Given the description of an element on the screen output the (x, y) to click on. 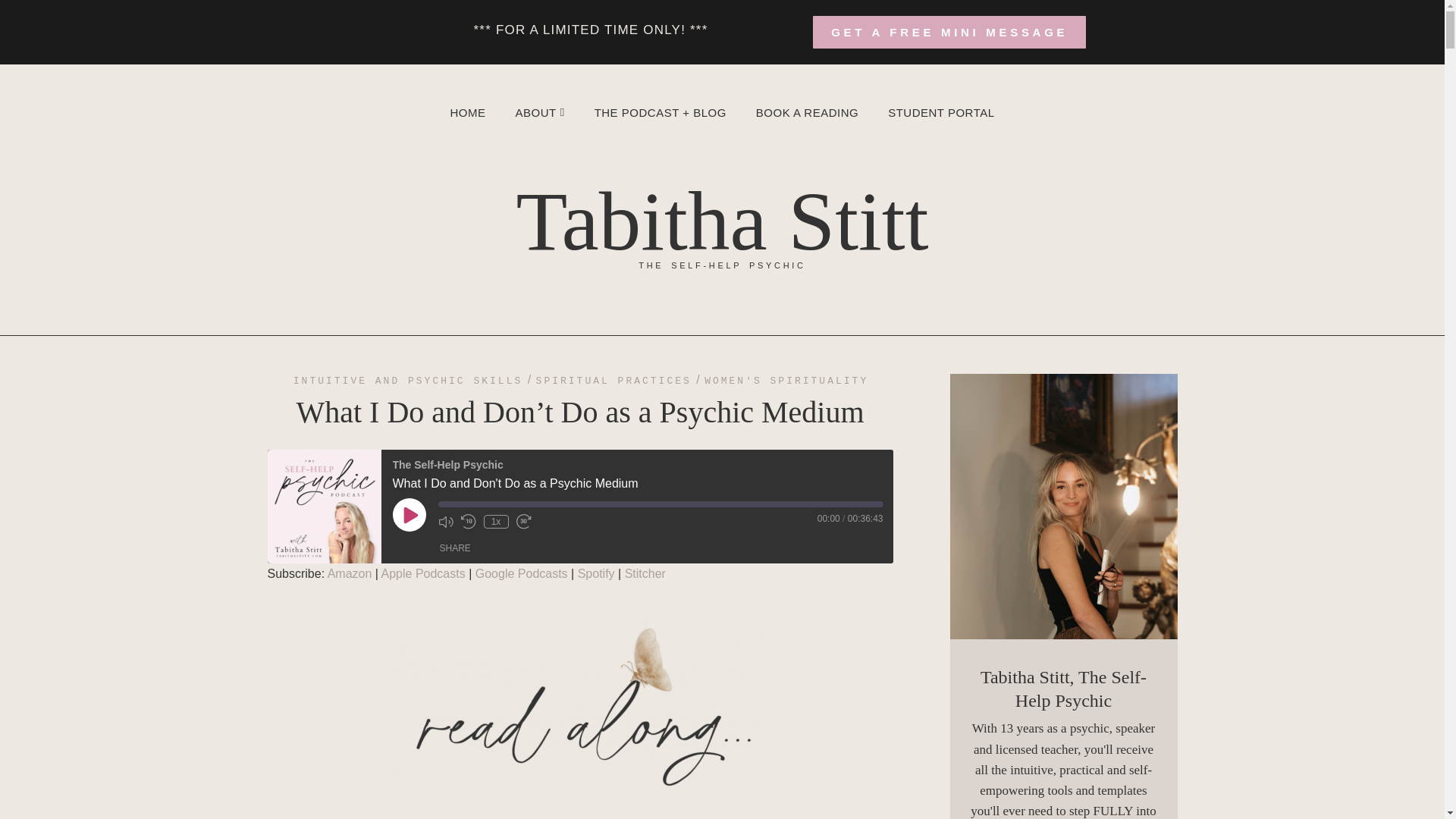
HOME (466, 112)
ABOUT (539, 112)
GET A FREE MINI MESSAGE (949, 31)
Google Podcasts (521, 573)
Apple Podcasts (423, 573)
SPIRITUAL PRACTICES (613, 380)
1x (495, 521)
The Self-Help Psychic (323, 506)
Spotify (596, 573)
Rewind 10 seconds (468, 521)
Stitcher (644, 573)
BOOK A READING (807, 112)
Share (455, 548)
STUDENT PORTAL (940, 112)
Play (409, 514)
